Given the description of an element on the screen output the (x, y) to click on. 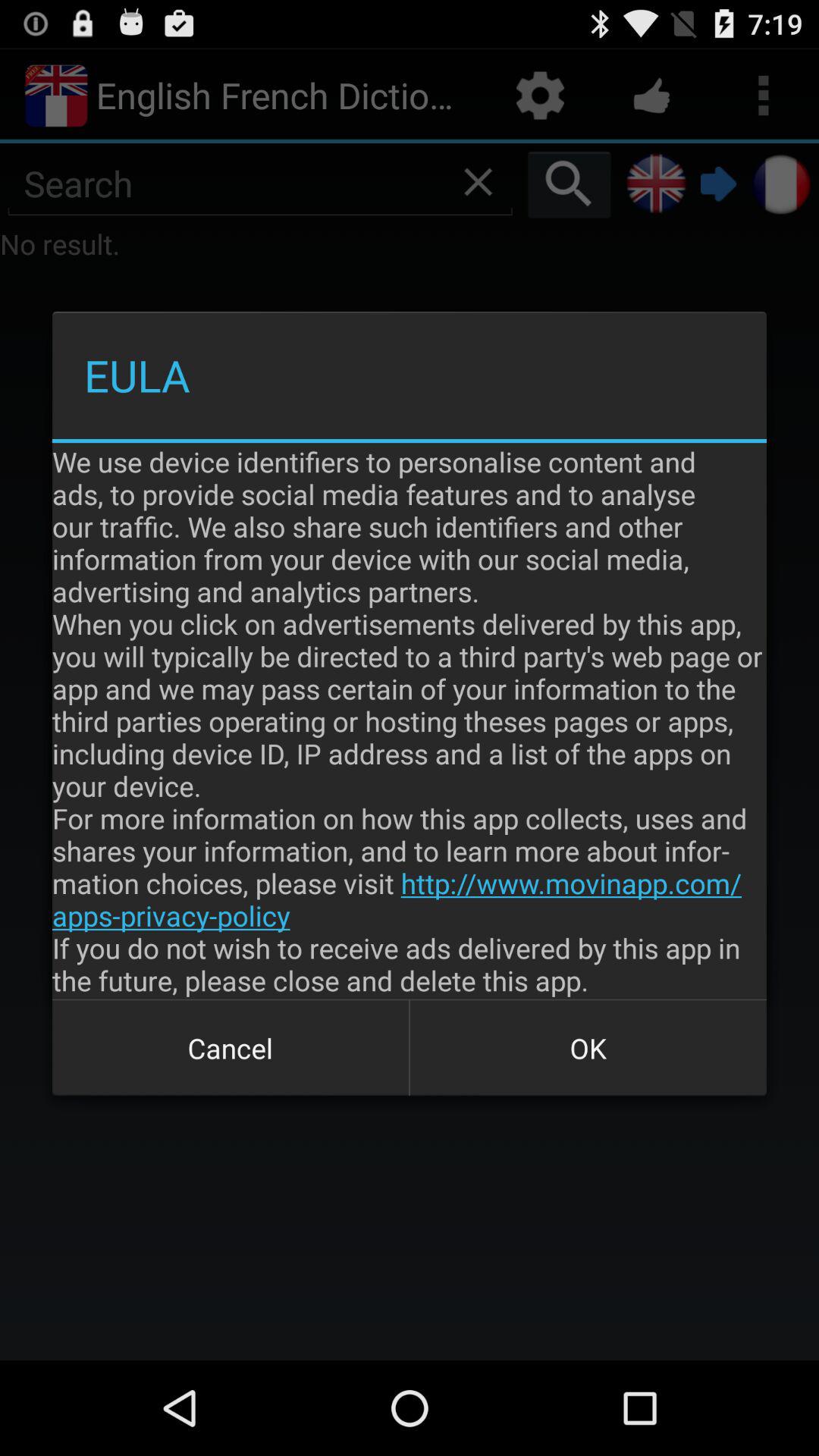
click the item above the cancel icon (409, 721)
